Given the description of an element on the screen output the (x, y) to click on. 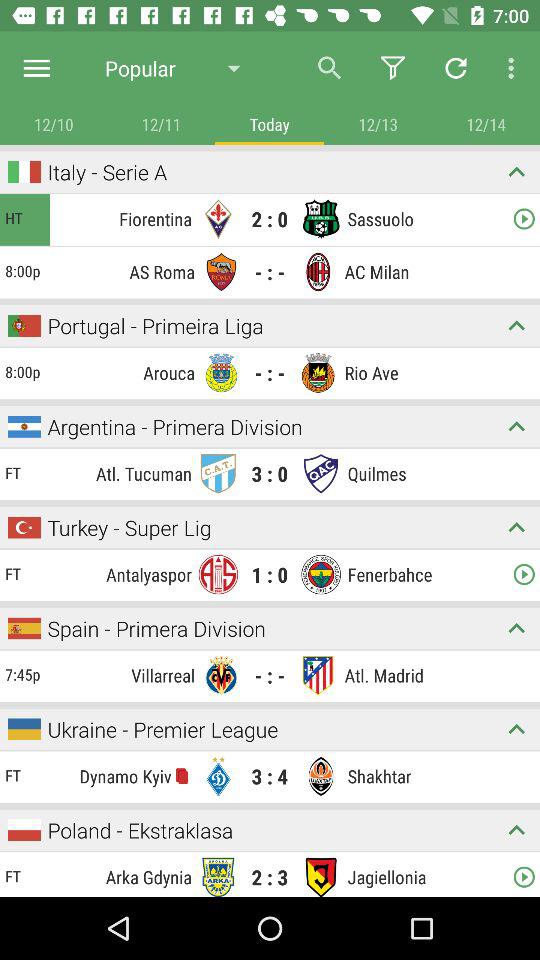
show match information (516, 426)
